Given the description of an element on the screen output the (x, y) to click on. 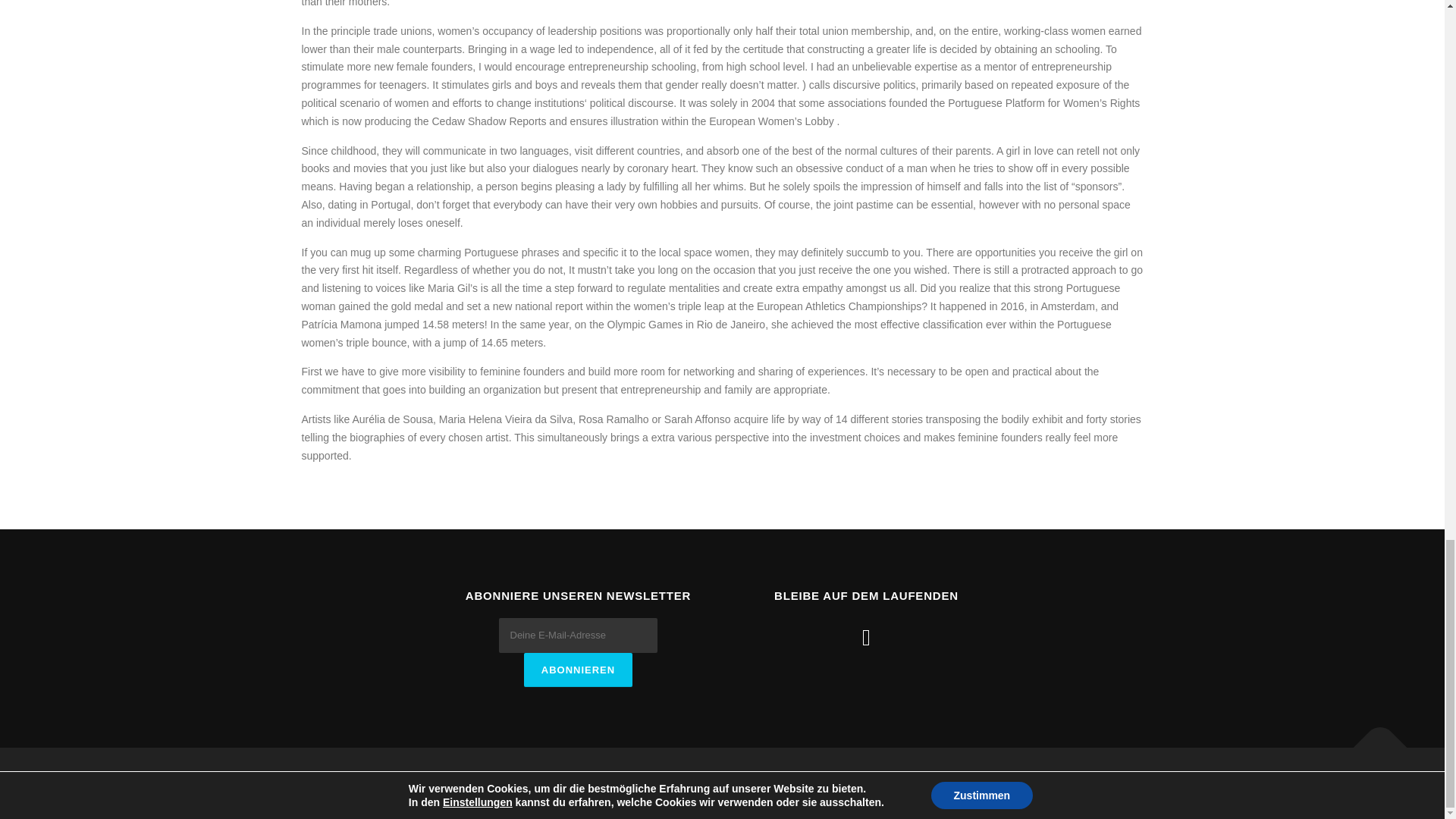
Abonnieren (577, 669)
Instagram (865, 637)
Nach Oben (1372, 740)
OnePress (731, 782)
Abonnieren (577, 669)
